Given the description of an element on the screen output the (x, y) to click on. 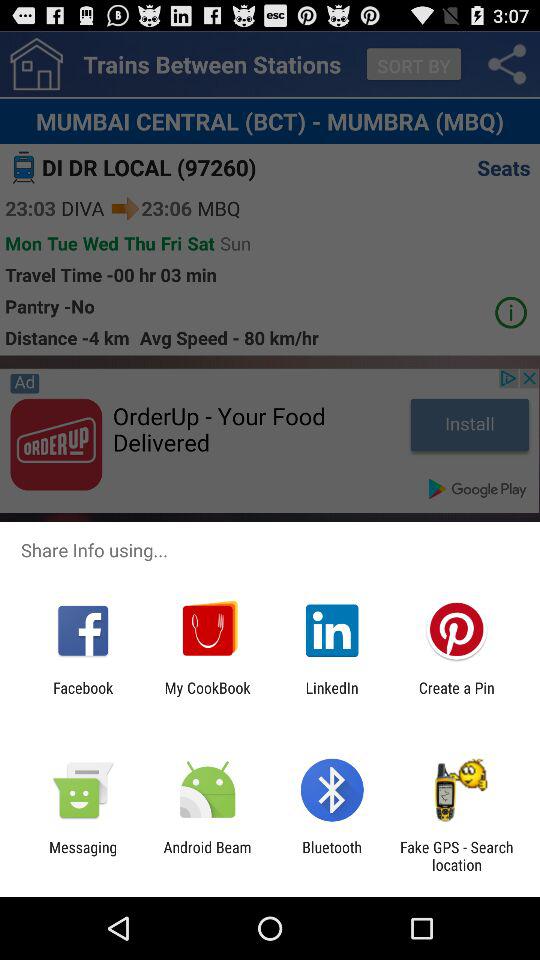
scroll to the facebook (83, 696)
